Given the description of an element on the screen output the (x, y) to click on. 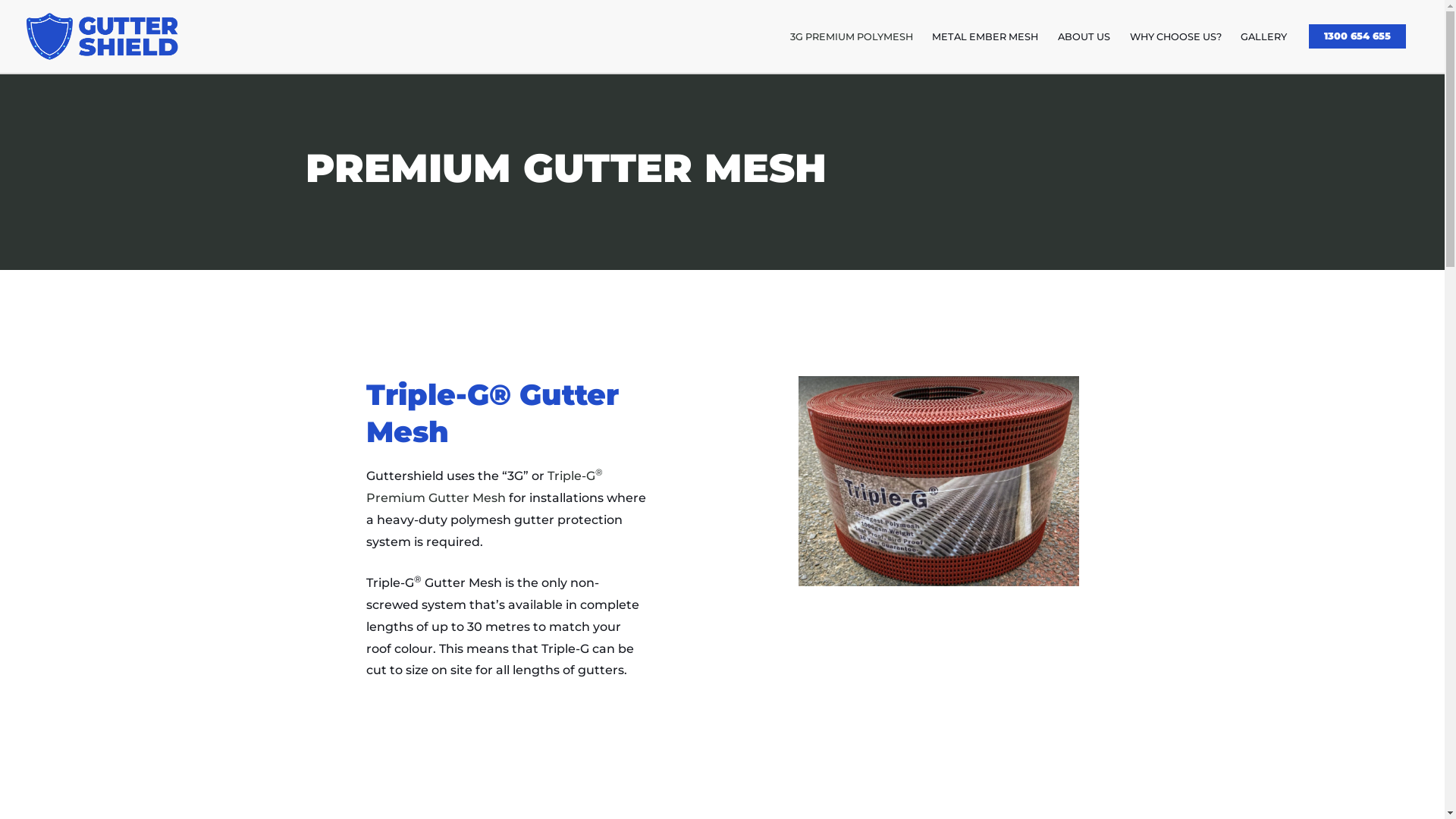
ABOUT US Element type: text (1084, 36)
METAL EMBER MESH Element type: text (985, 36)
3G PREMIUM POLYMESH Element type: text (851, 36)
WHY CHOOSE US? Element type: text (1175, 36)
GALLERY Element type: text (1263, 36)
1300 654 655 Element type: text (1356, 36)
